Given the description of an element on the screen output the (x, y) to click on. 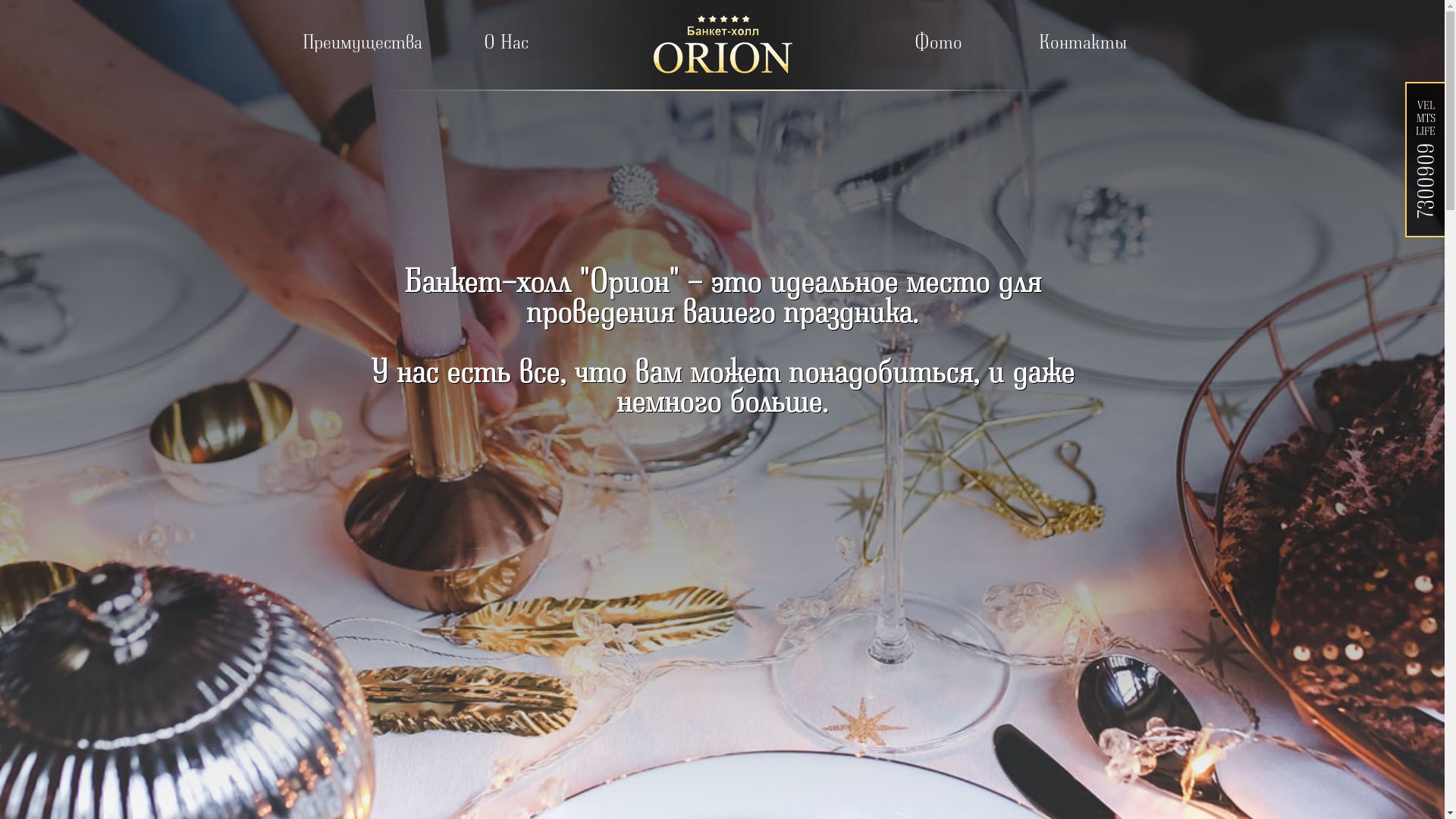
VEL
MTS
LIFE
7300909 Element type: text (1425, 155)
